Given the description of an element on the screen output the (x, y) to click on. 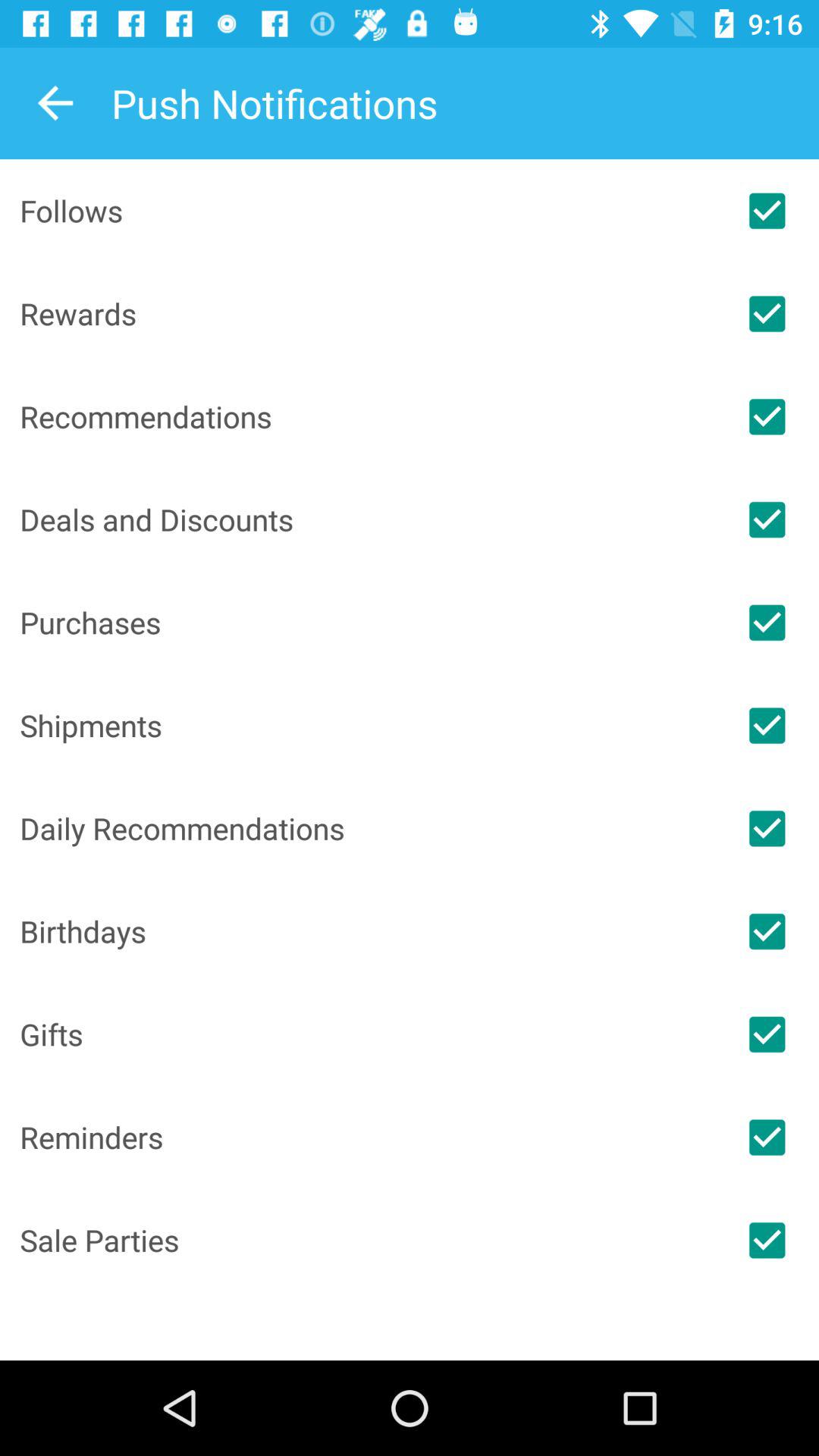
follows (767, 210)
